Given the description of an element on the screen output the (x, y) to click on. 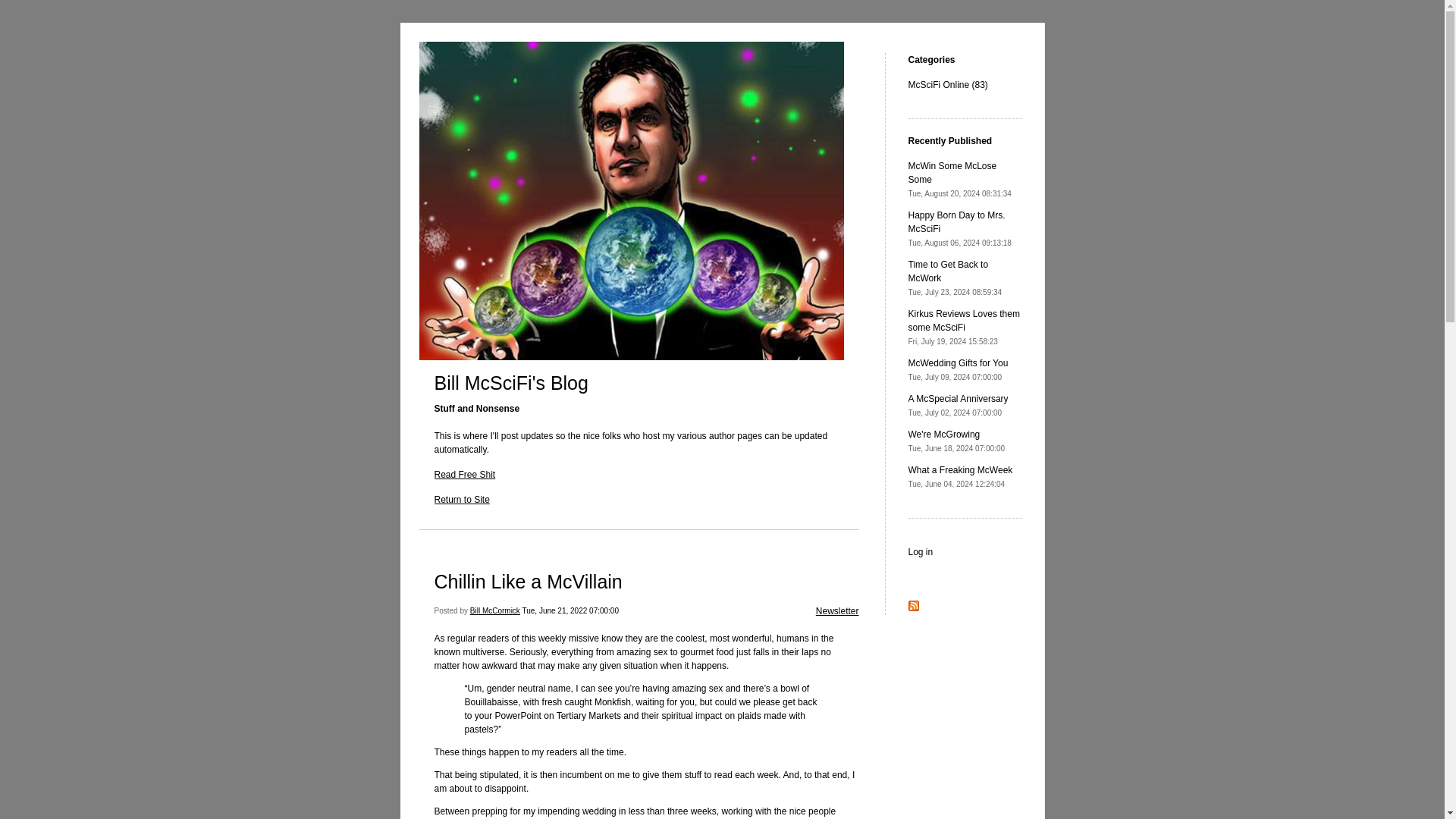
Tue, June 21, 2022 07:00:00 (569, 610)
Chillin Like a McVillain (527, 581)
Read Free Shit (957, 441)
Newsletter (464, 474)
Bill McSciFi's Blog (960, 476)
RSS 2.0 (837, 611)
